Given the description of an element on the screen output the (x, y) to click on. 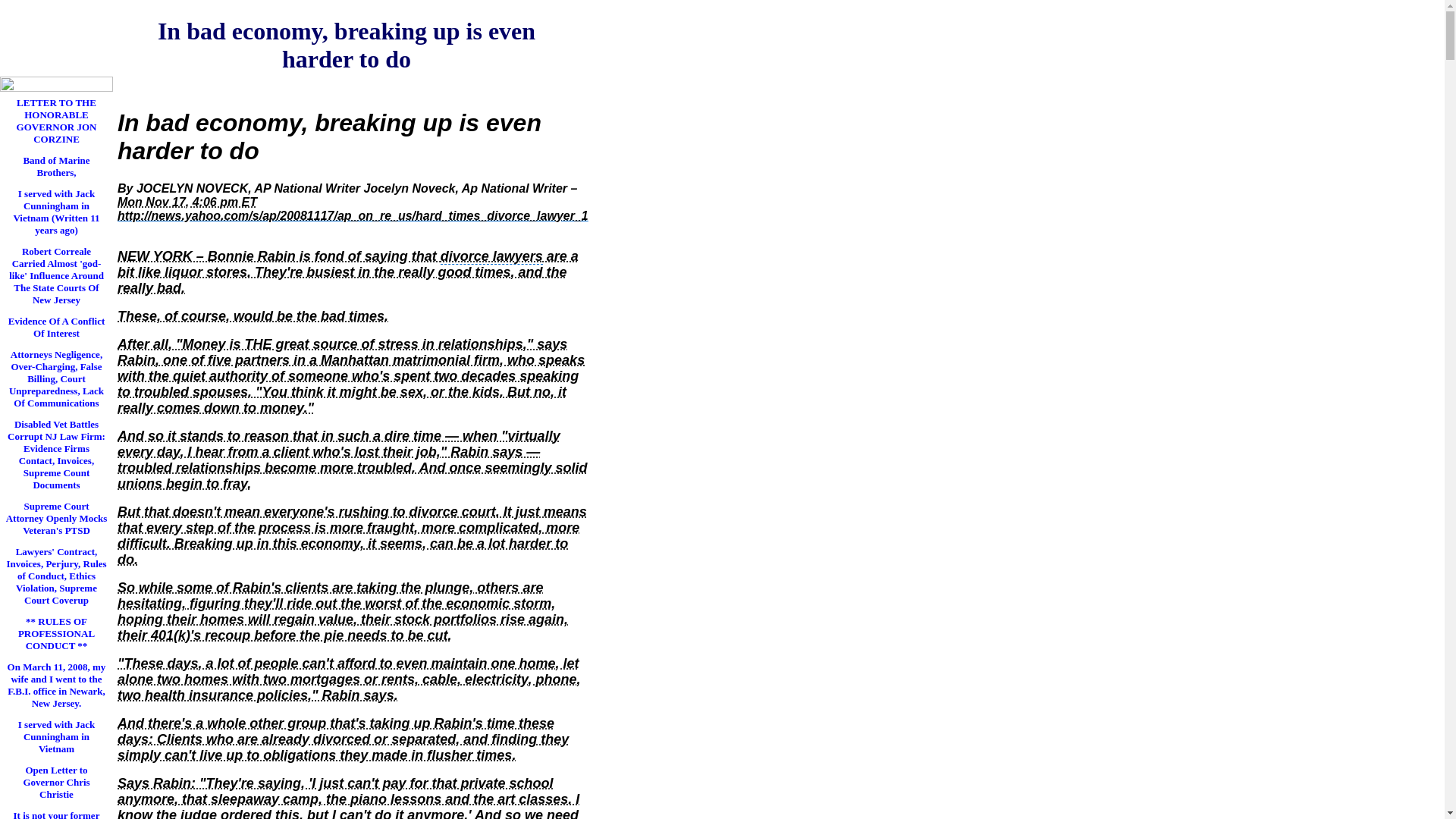
LETTER TO THE HONORABLE GOVERNOR JON CORZINE (56, 119)
2008-11-17T13:06:58-0800 (187, 201)
2008-11-17T13:06:58-0800 (352, 215)
I served with Jack Cunningham in Vietnam (55, 735)
Supreme Court Attorney Openly Mocks Veteran's PTSD (56, 517)
Open Letter to Governor Chris Christie (55, 781)
Evidence Of A Conflict Of Interest (56, 326)
Band of Marine Brothers, (55, 165)
